Given the description of an element on the screen output the (x, y) to click on. 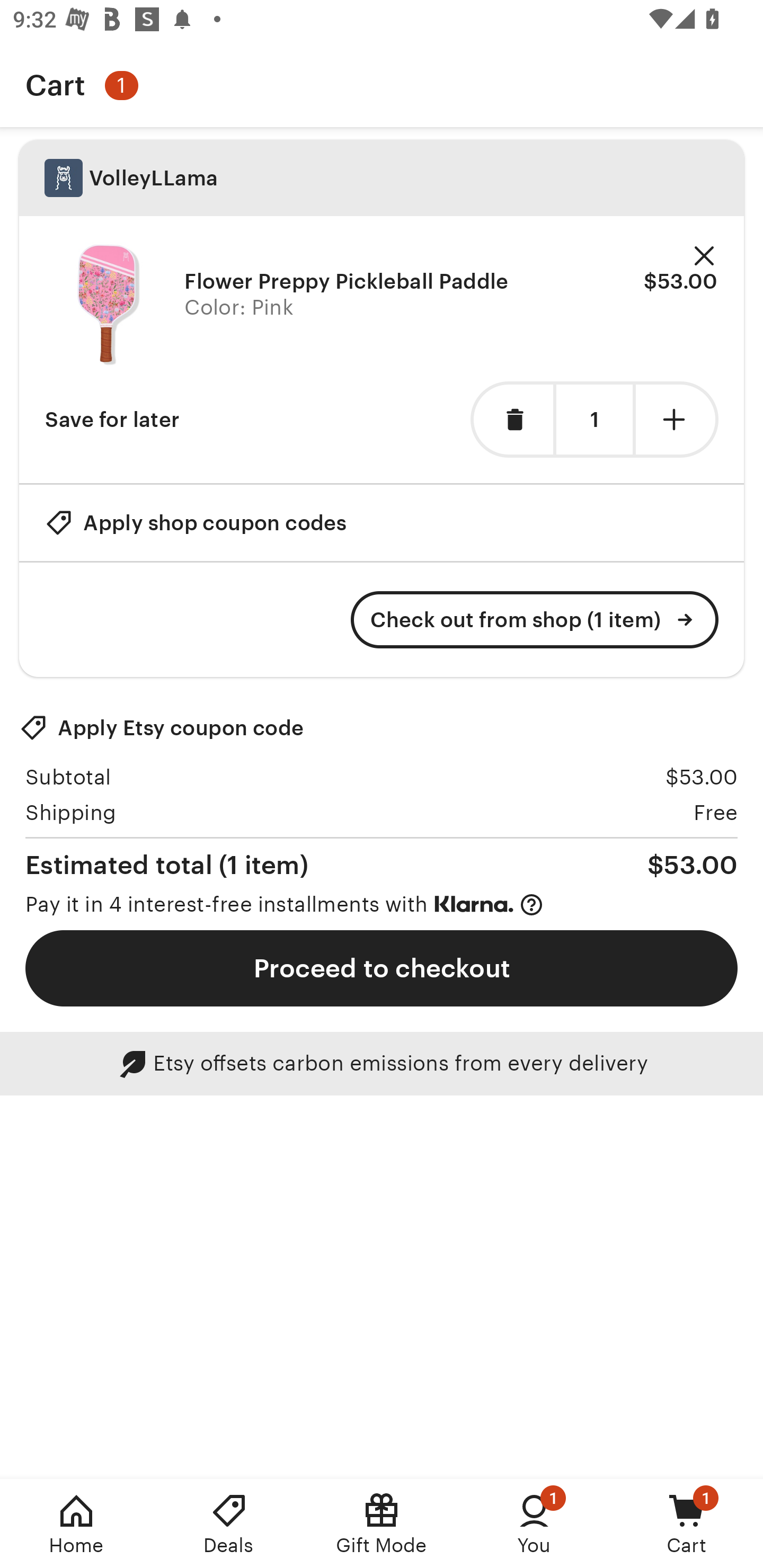
VolleyLLama (381, 177)
Remove (704, 255)
Flower Preppy Pickleball Paddle (107, 304)
Flower Preppy Pickleball Paddle (346, 281)
Save for later (112, 419)
Remove item from cart (511, 419)
Add one unit to cart (676, 419)
1 (594, 419)
Apply shop coupon codes (195, 522)
Check out from shop (1 item) (534, 619)
Apply Etsy coupon code (161, 727)
Proceed to checkout (381, 967)
Home (76, 1523)
Deals (228, 1523)
Gift Mode (381, 1523)
You, 1 new notification You (533, 1523)
